Given the description of an element on the screen output the (x, y) to click on. 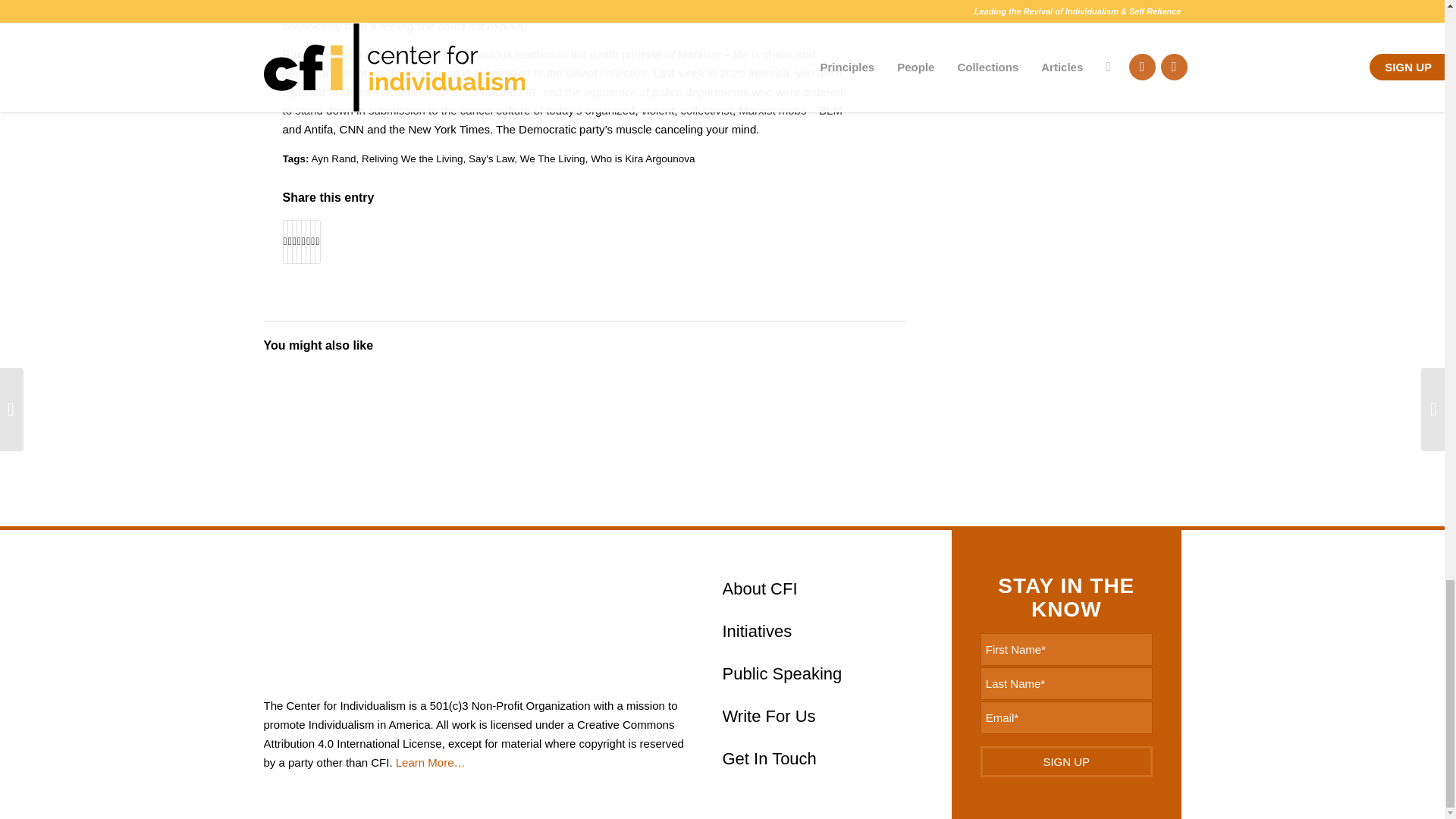
Say's Law (490, 158)
Who is Kira Argounova (642, 158)
We The Living (552, 158)
Ayn Rand (333, 158)
Reliving We the Living (412, 158)
SIGN UP (1066, 761)
